Given the description of an element on the screen output the (x, y) to click on. 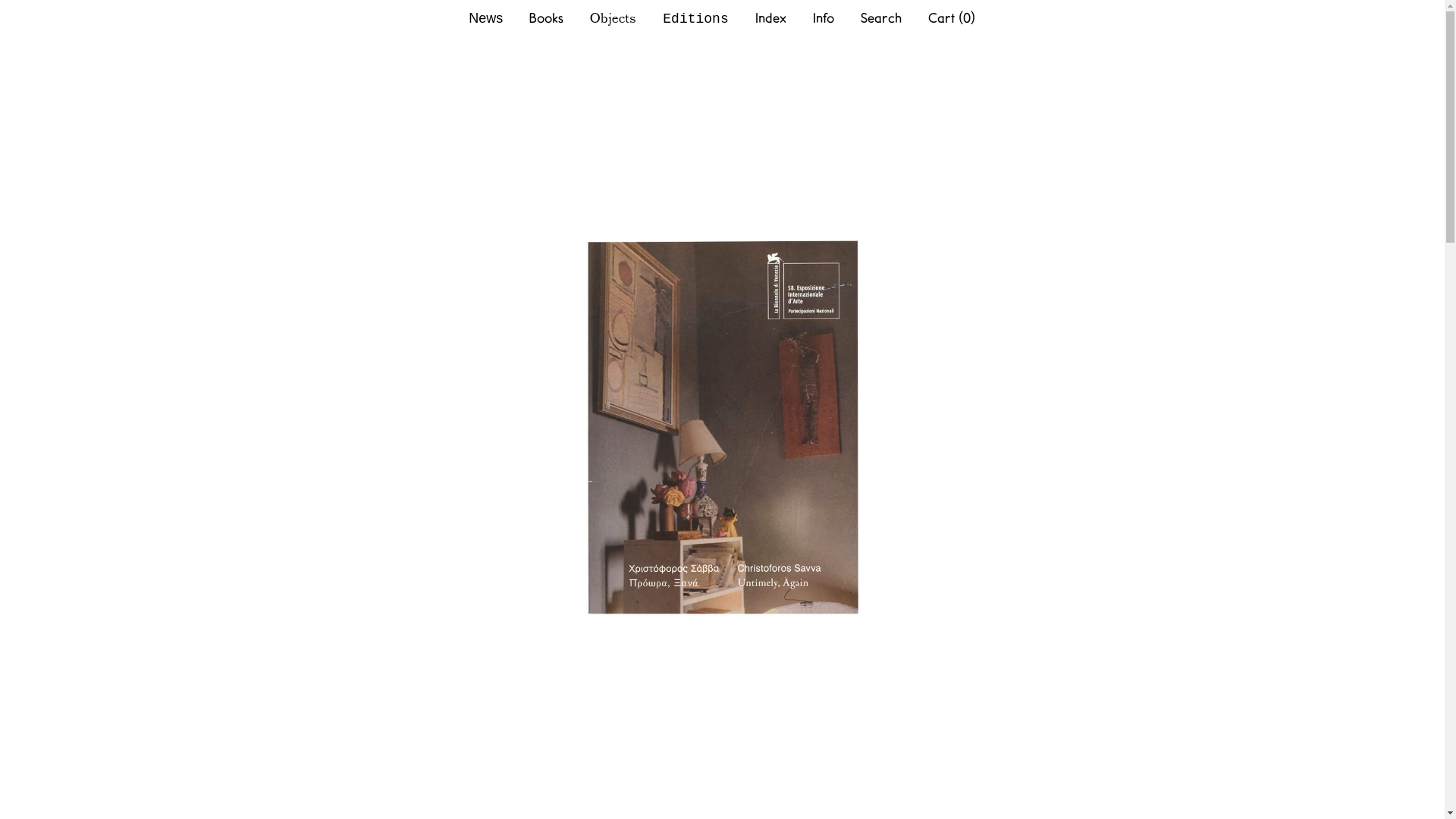
Books (546, 17)
Info (823, 17)
News (485, 18)
Editions (695, 19)
Objects (612, 17)
Index (770, 17)
